Given the description of an element on the screen output the (x, y) to click on. 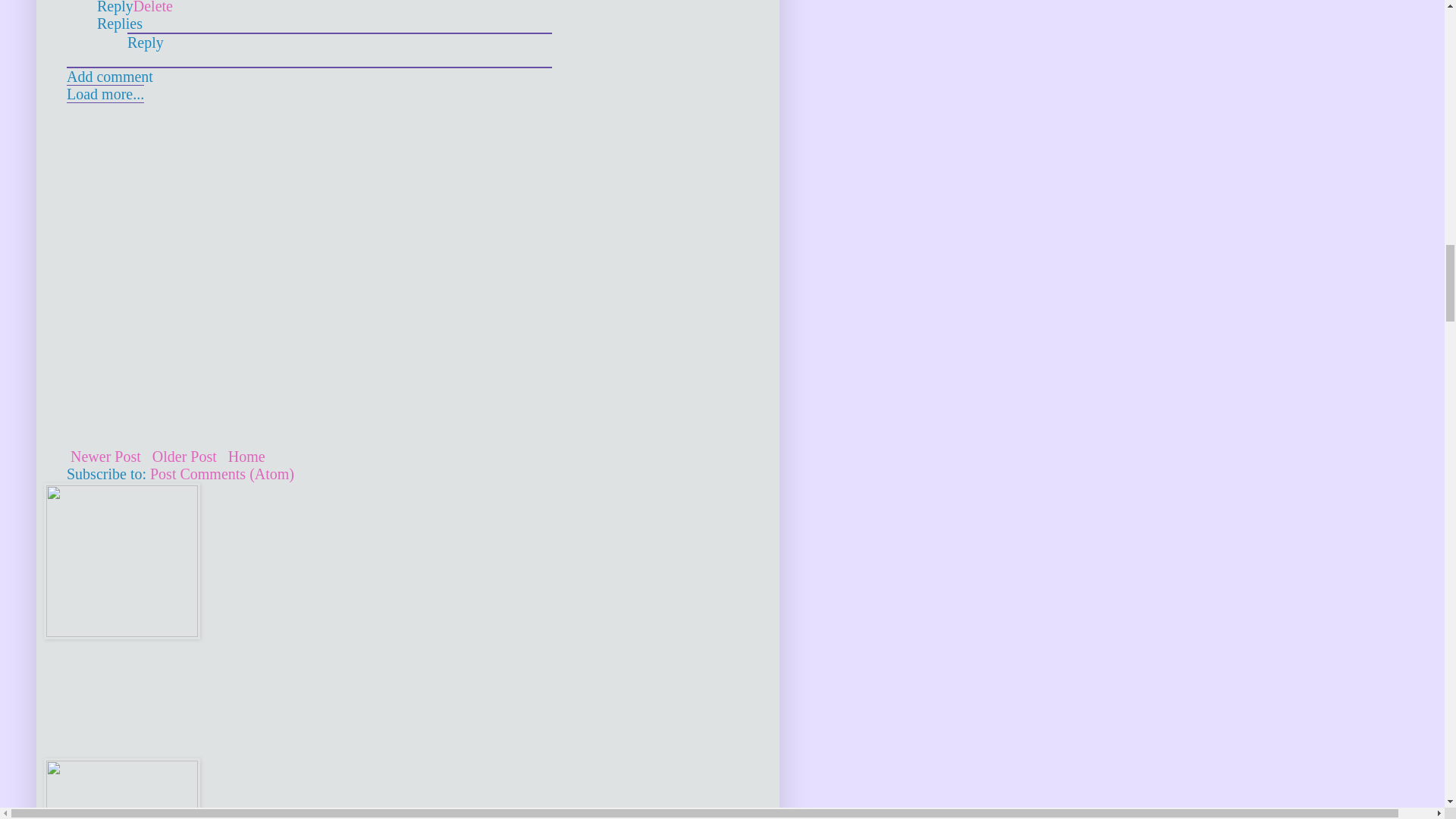
Older Post (184, 456)
Newer Post (105, 456)
